Given the description of an element on the screen output the (x, y) to click on. 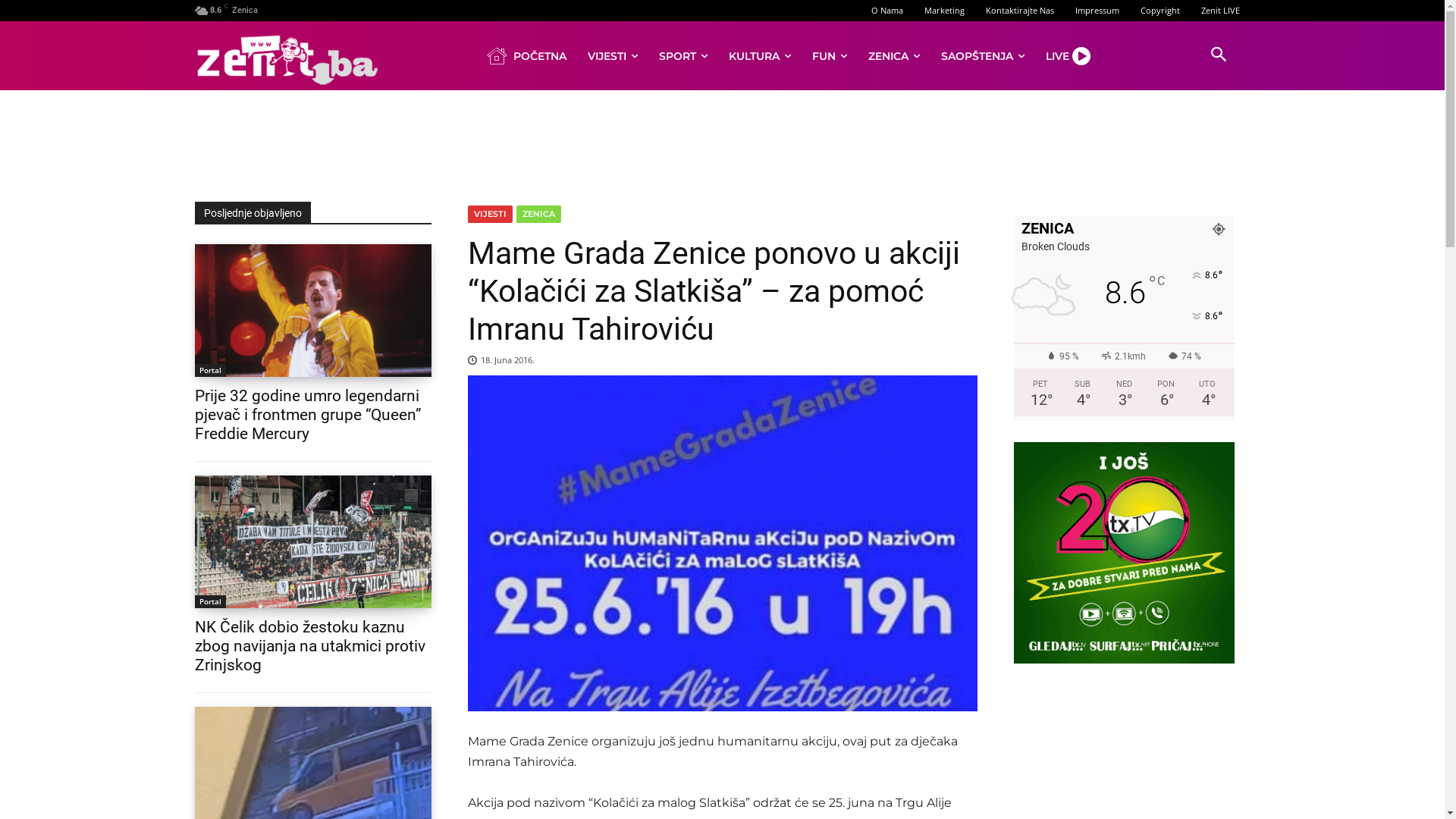
SPORT Element type: text (683, 55)
ZENICA Element type: text (893, 55)
KULTURA Element type: text (759, 55)
Portal Element type: text (209, 601)
Advertisement Element type: hover (721, 142)
LIVE Element type: text (1071, 55)
FUN Element type: text (829, 55)
VIJESTI Element type: text (489, 213)
VIJESTI Element type: text (612, 55)
Portal Element type: text (209, 370)
ZENICA Element type: text (537, 213)
